Given the description of an element on the screen output the (x, y) to click on. 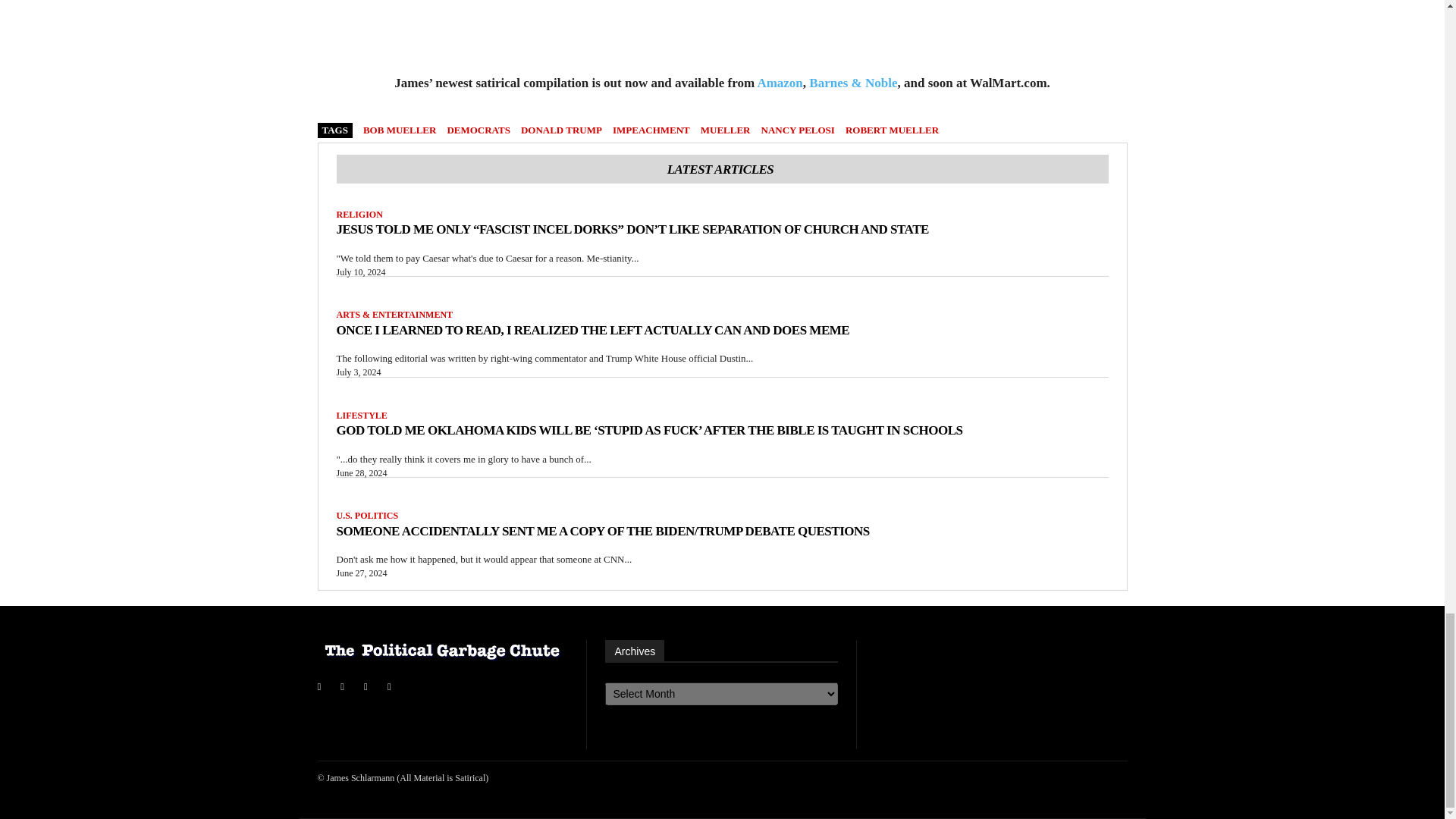
Amazon (779, 83)
